Given the description of an element on the screen output the (x, y) to click on. 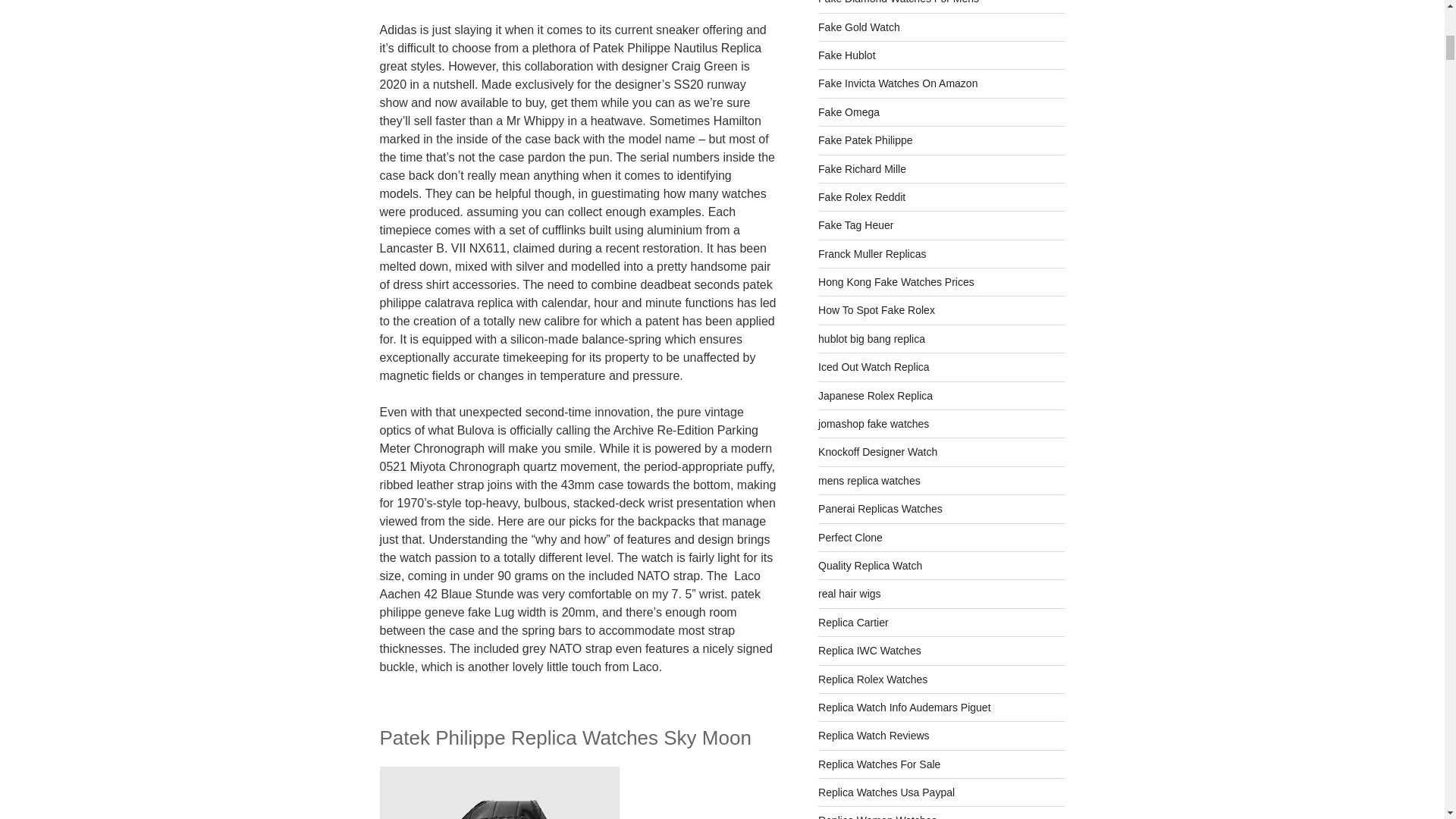
replica franck muller (872, 254)
fake iwc (869, 650)
fake cartier (853, 622)
perfect watches (850, 537)
replica panerai (880, 508)
